Given the description of an element on the screen output the (x, y) to click on. 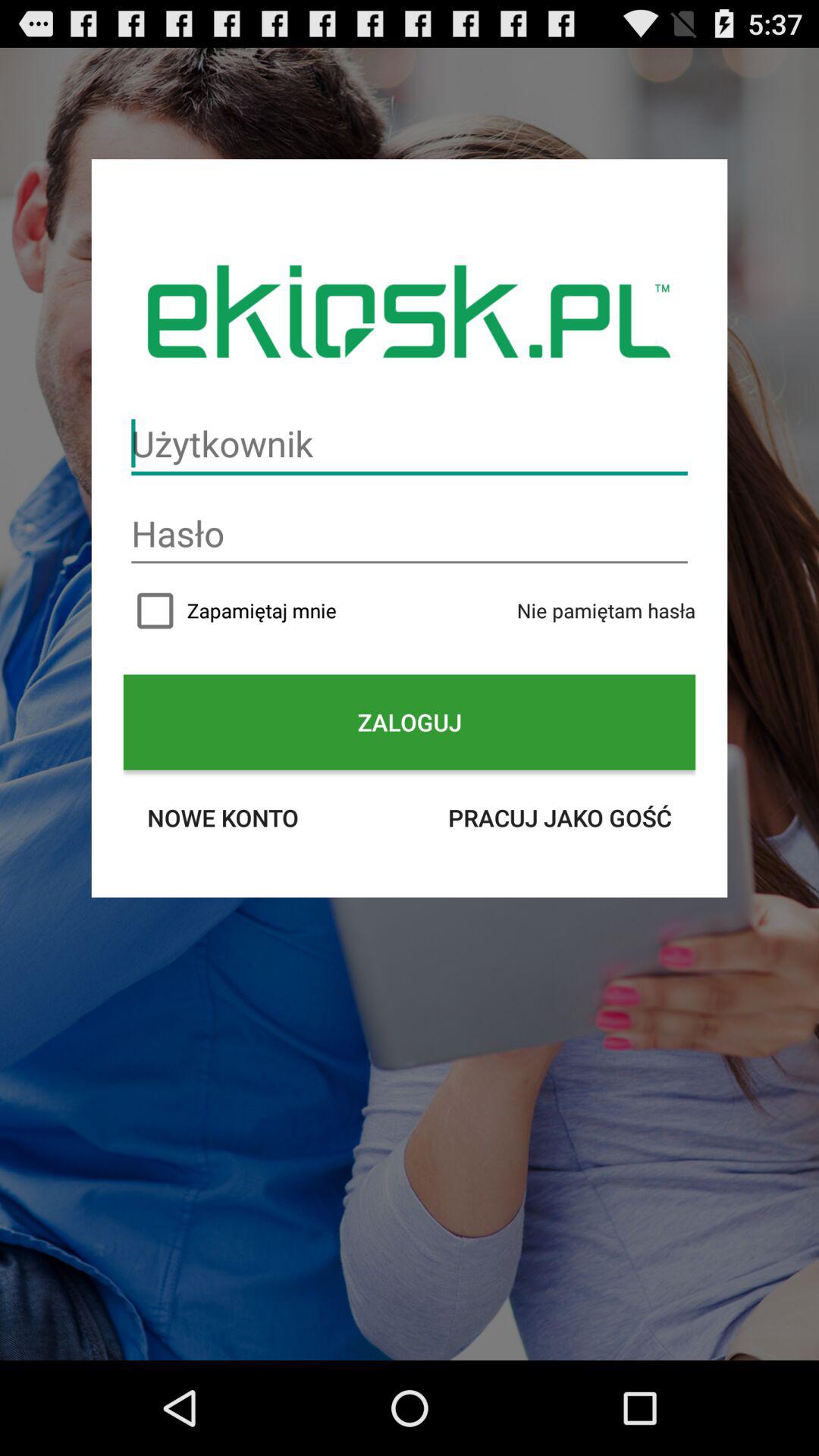
scroll to the nowe konto button (222, 817)
